Given the description of an element on the screen output the (x, y) to click on. 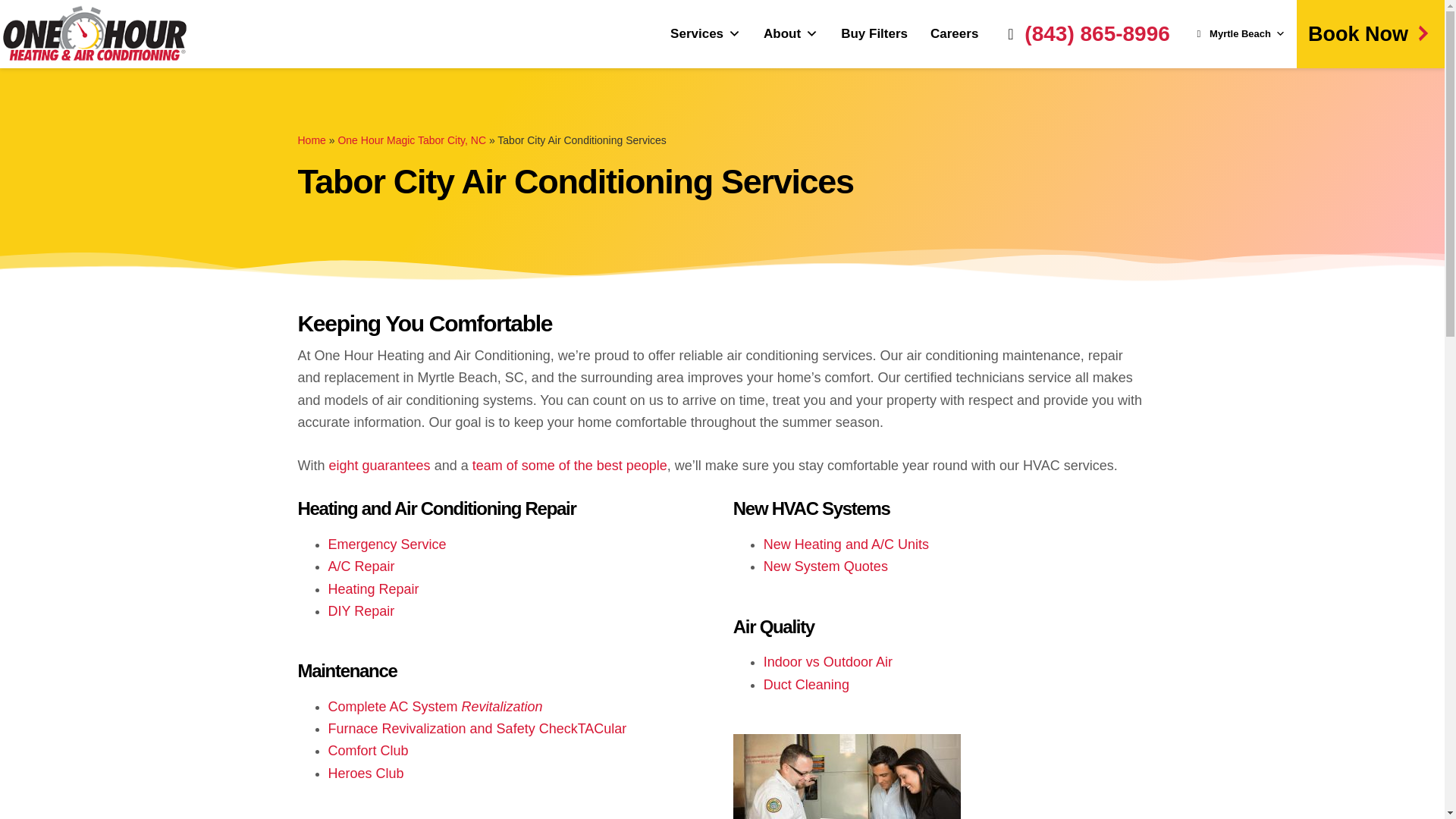
Home (310, 140)
One Hour Magic (94, 33)
About (790, 33)
Emergency Service (386, 544)
Complete AC System Revitalization (434, 706)
DIY Repair (360, 611)
Careers (954, 33)
eight guarantees (379, 465)
Buy Filters (873, 33)
One Hour Magic Tabor City, NC (411, 140)
Comfort Club (367, 750)
team of some of the best people (568, 465)
Furnace Revivalization and Safety CheckTACular (476, 728)
Myrtle Beach (1238, 33)
Services (705, 33)
